Given the description of an element on the screen output the (x, y) to click on. 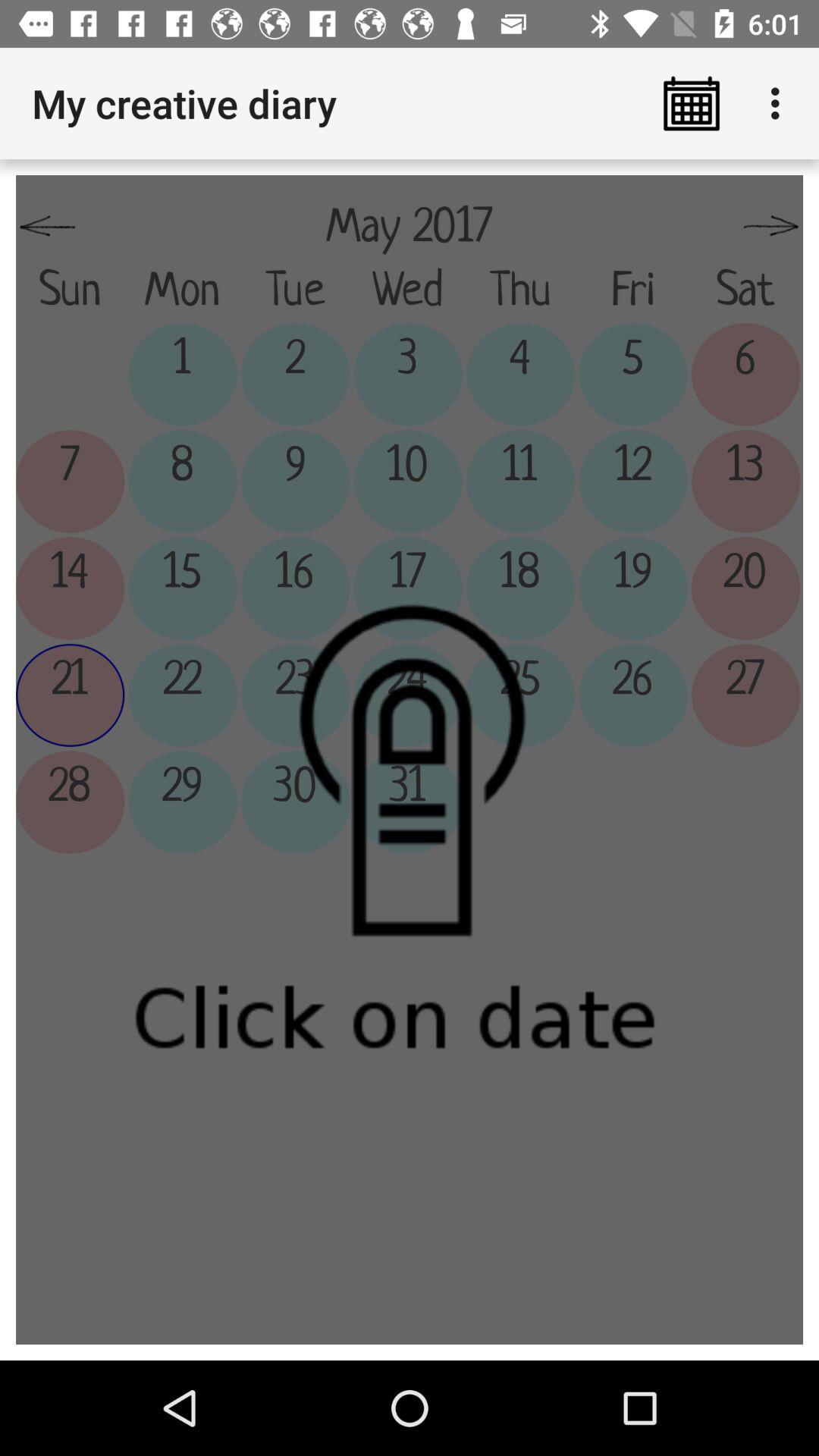
choose the item above the sun item (47, 226)
